Given the description of an element on the screen output the (x, y) to click on. 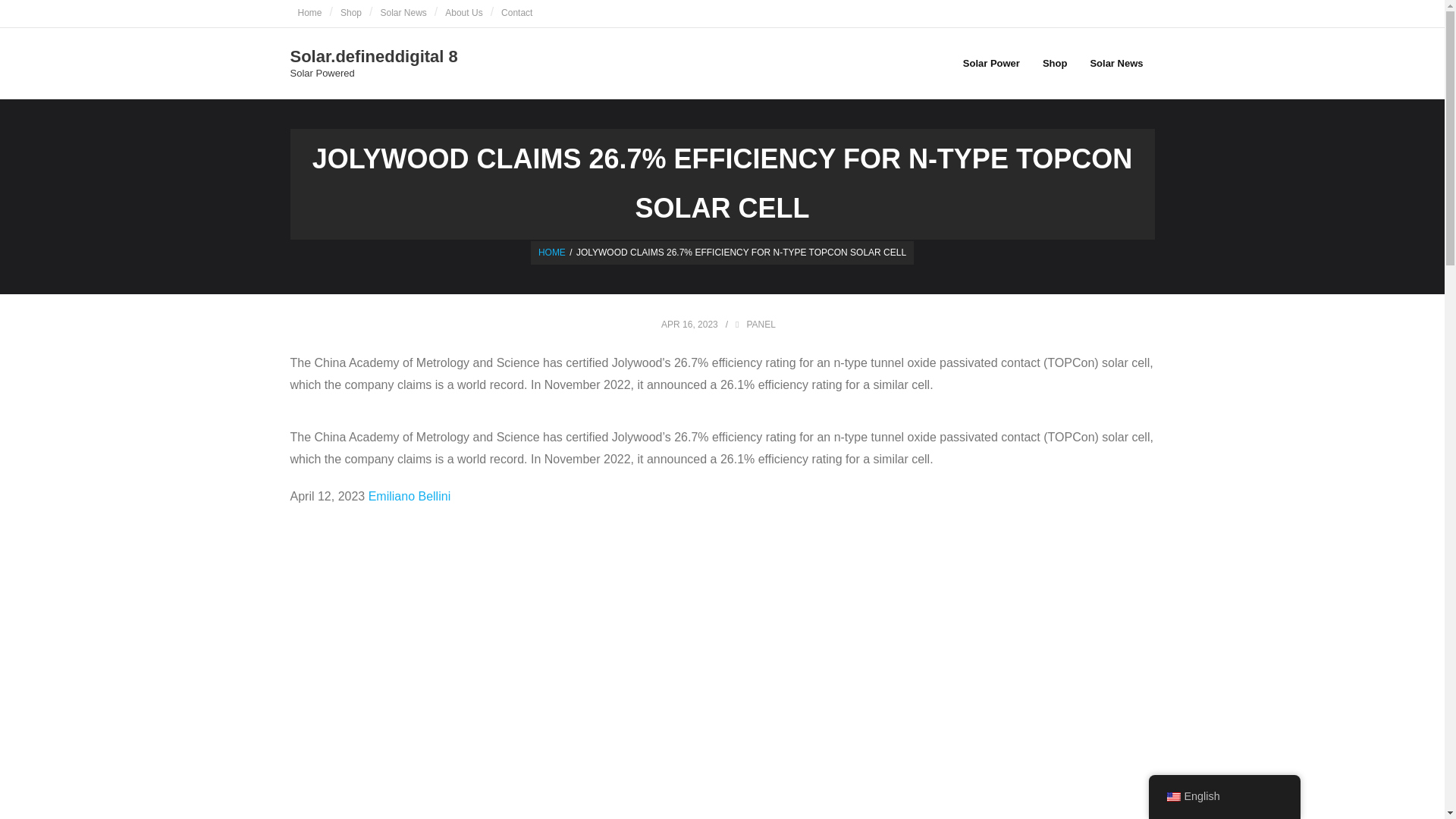
Solar.defineddigital 8 (373, 56)
Solar Powered (373, 72)
Contact (516, 13)
Solar Power (373, 61)
APR 16, 2023 (991, 62)
About Us (689, 324)
PANEL (463, 13)
Solar News (759, 324)
HOME (402, 13)
